Given the description of an element on the screen output the (x, y) to click on. 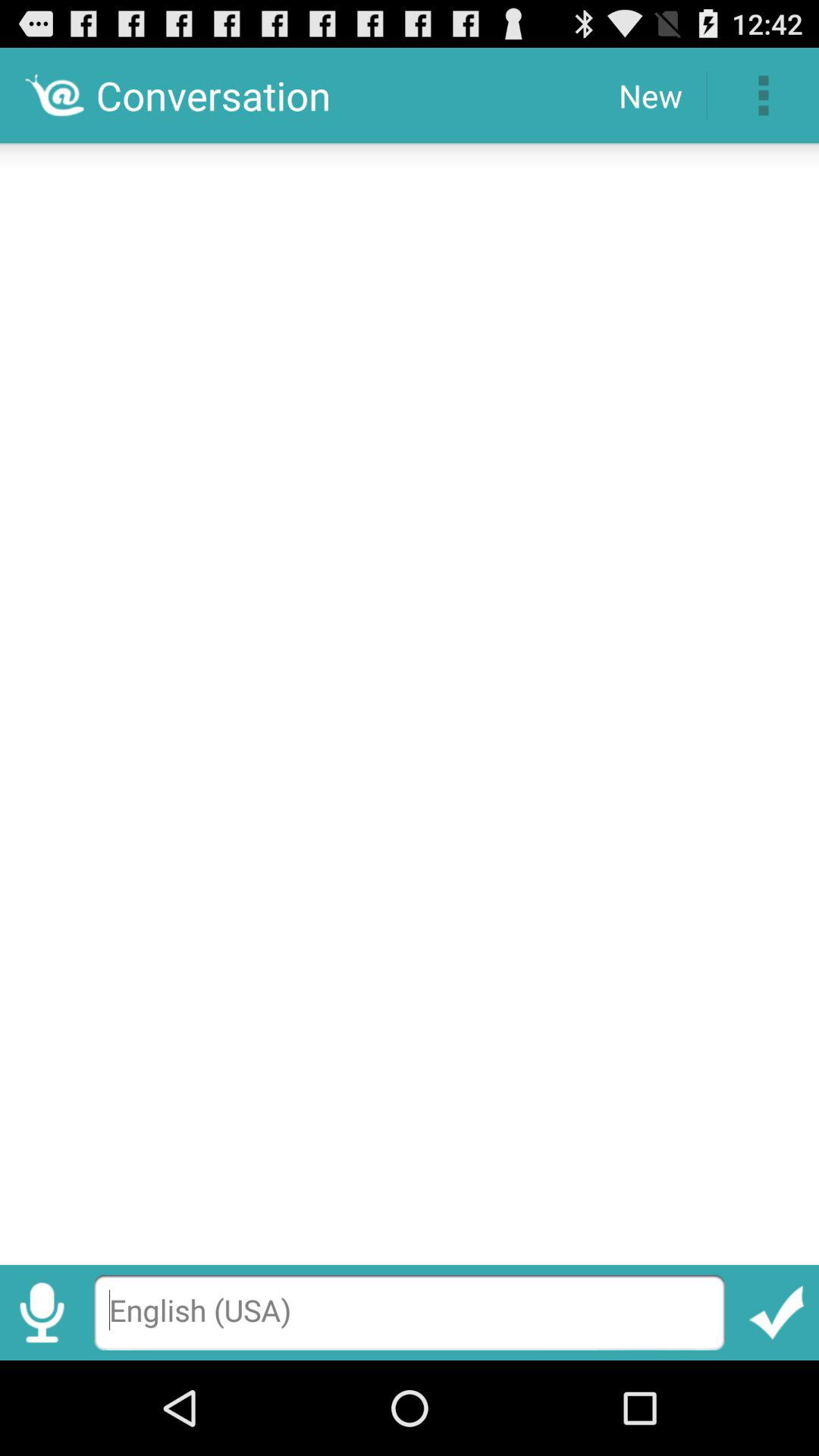
type message (409, 1312)
